Given the description of an element on the screen output the (x, y) to click on. 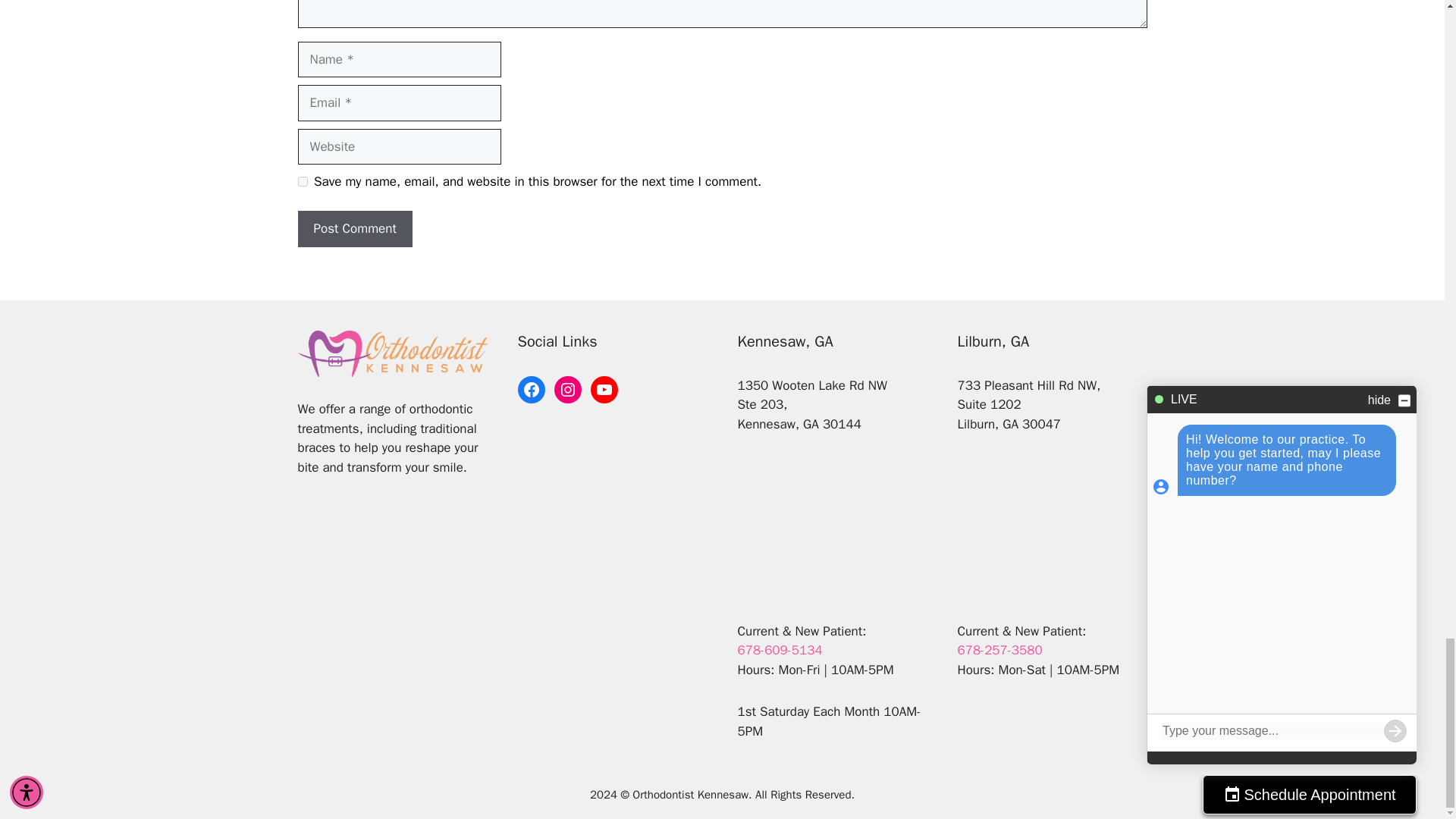
Post Comment (354, 228)
Facebook (530, 389)
678-257-3580 (999, 650)
Post Comment (354, 228)
yes (302, 181)
678-609-5134 (779, 650)
Instagram (566, 389)
YouTube (603, 389)
